Given the description of an element on the screen output the (x, y) to click on. 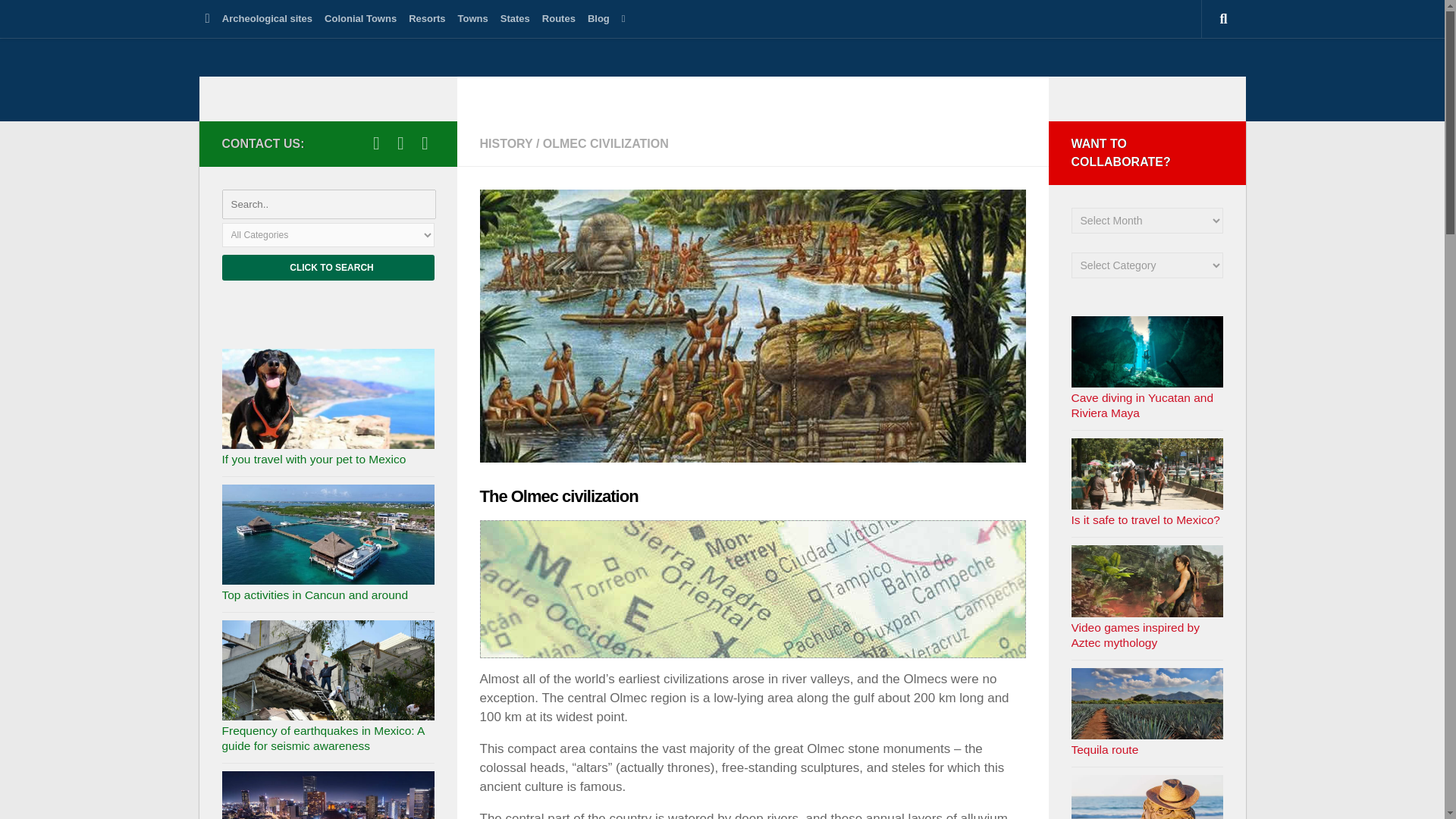
Mexican Routes (339, 90)
Click to search (327, 267)
Blog (597, 18)
Routes (557, 18)
States (515, 18)
OLMEC CIVILIZATION (605, 143)
Towns (473, 18)
HISTORY (505, 143)
Advertisement (752, 588)
If you travel with your pet to Mexico (313, 459)
Follow us on Facebook (400, 143)
Follow us on Google News (423, 143)
Colonial Towns (360, 18)
Archeological sites (266, 18)
Resorts (427, 18)
